Given the description of an element on the screen output the (x, y) to click on. 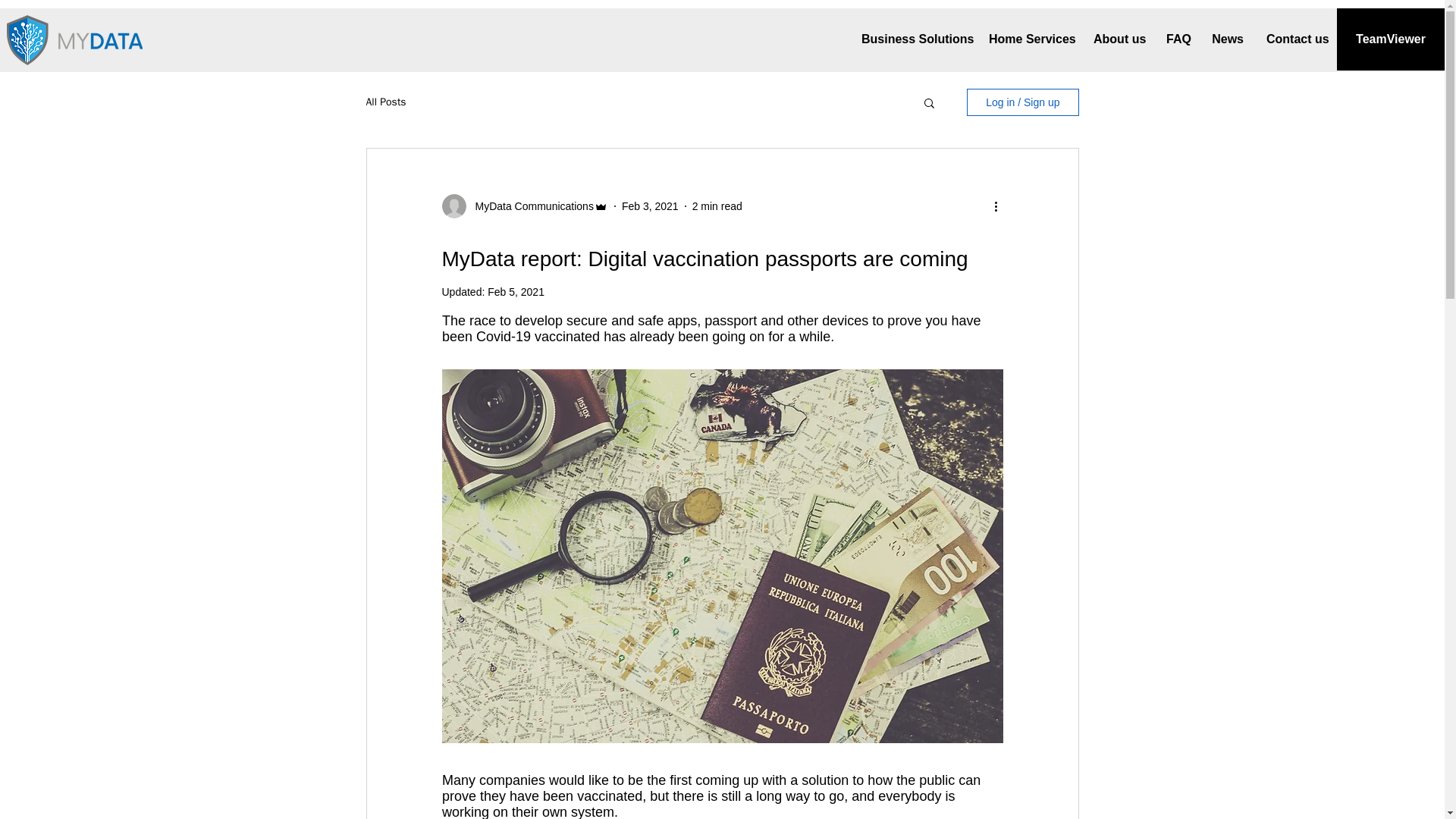
Feb 5, 2021 (515, 291)
Contact us (1295, 39)
About us (1117, 39)
Feb 3, 2021 (649, 205)
Home Services (1028, 39)
FAQ (1176, 39)
Business Solutions (913, 39)
2 min read (717, 205)
All Posts (385, 101)
News (1227, 39)
